Given the description of an element on the screen output the (x, y) to click on. 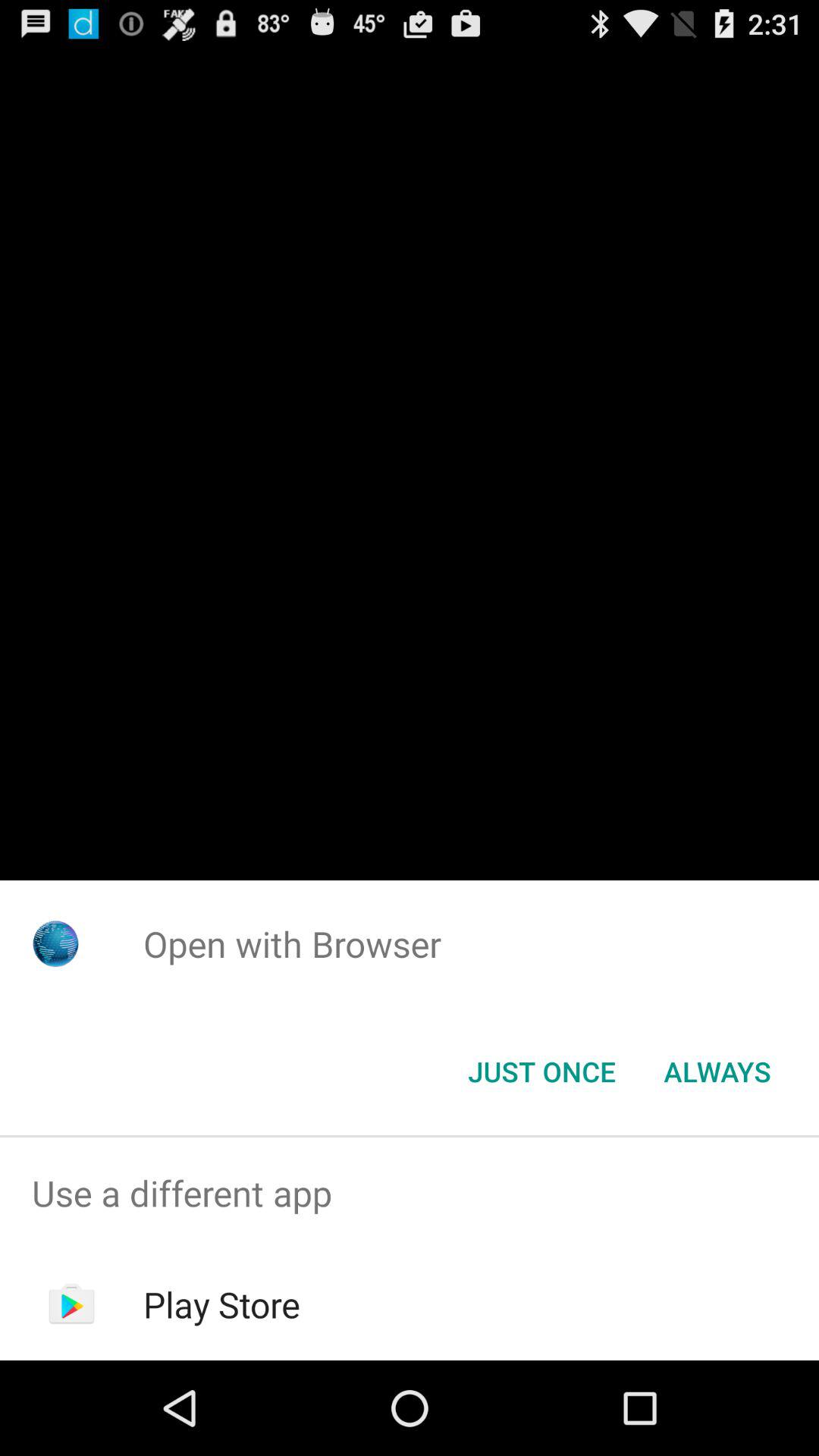
tap icon at the bottom right corner (717, 1071)
